Given the description of an element on the screen output the (x, y) to click on. 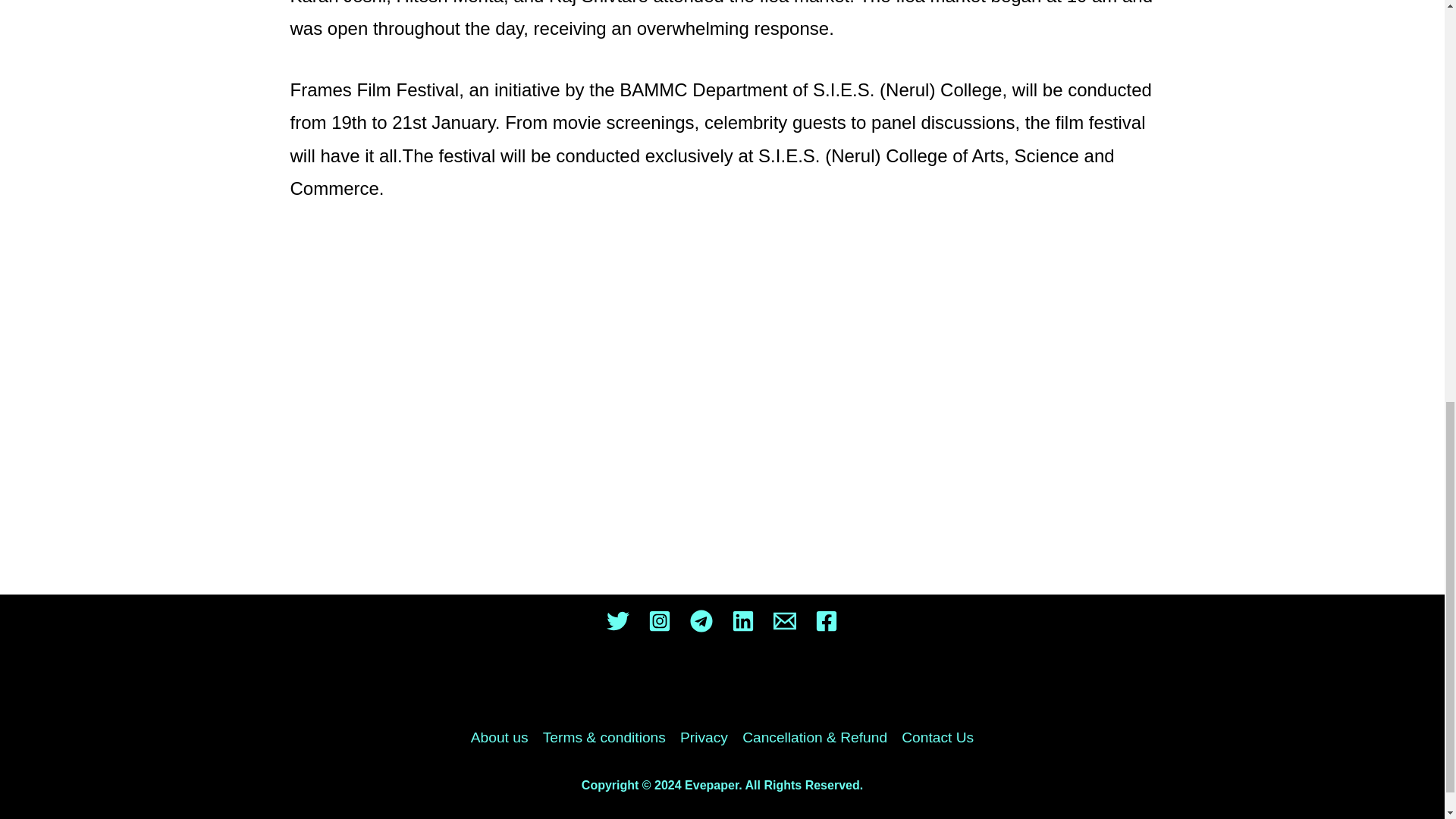
Privacy (703, 737)
Contact Us (934, 737)
About us (502, 737)
